Given the description of an element on the screen output the (x, y) to click on. 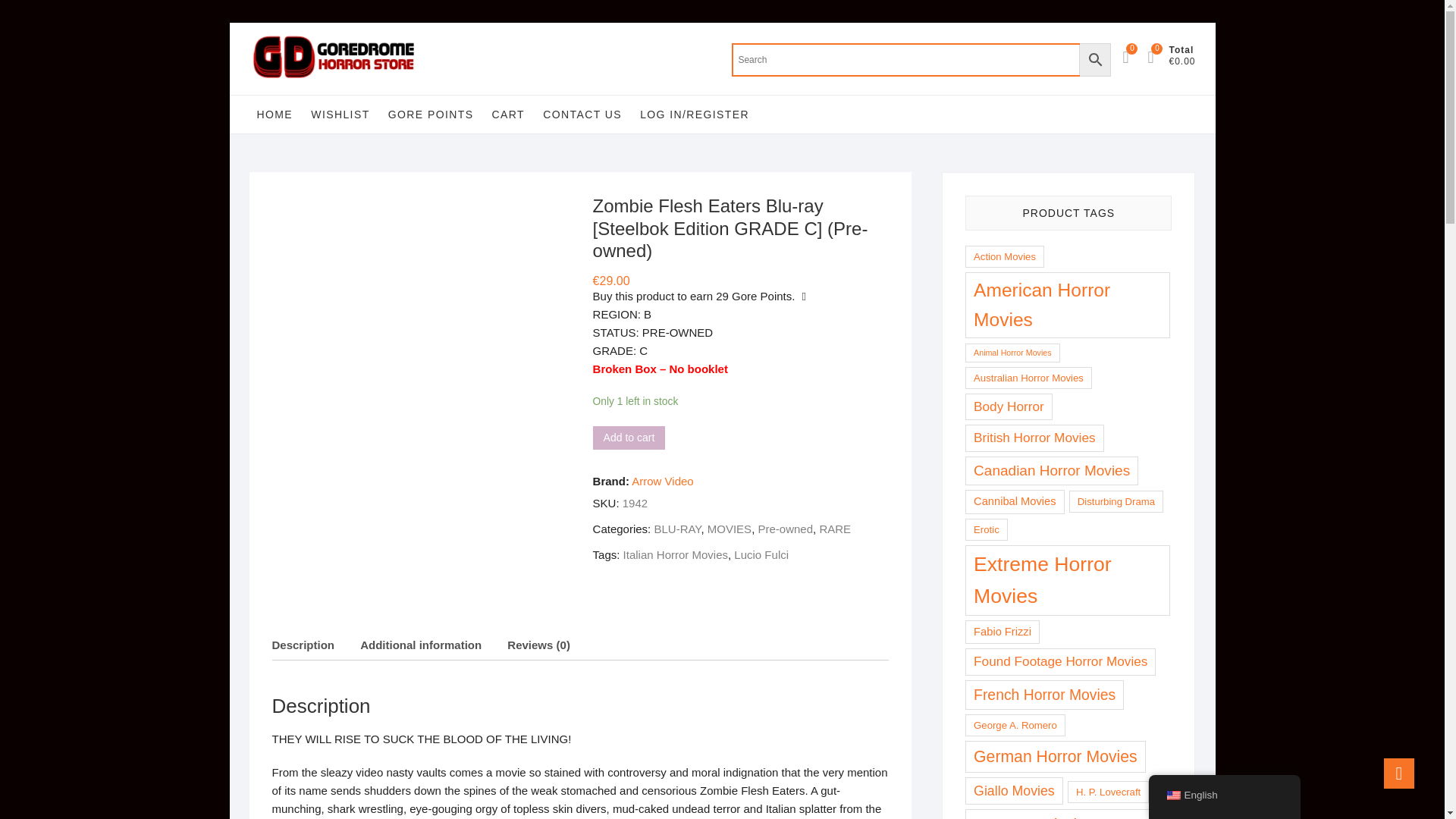
English (1172, 795)
Arrow Video (662, 481)
CONTACT US (581, 114)
BLU-RAY (676, 528)
Add to cart (628, 437)
HOME (273, 114)
CART (508, 114)
GORE POINTS (430, 114)
WISHLIST (339, 114)
